Given the description of an element on the screen output the (x, y) to click on. 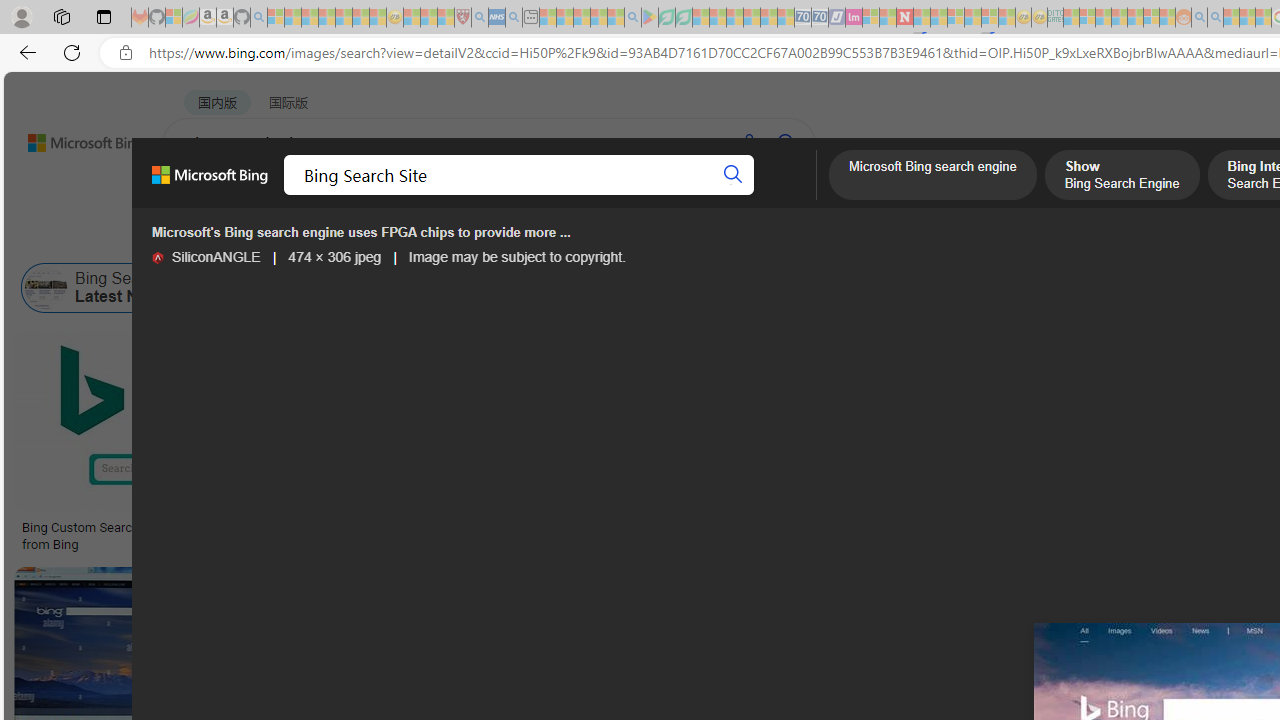
License (665, 237)
WEB (201, 195)
New tab - Sleeping (530, 17)
list of asthma inhalers uk - Search - Sleeping (479, 17)
Image result for Bing Search Site (1095, 421)
utah sues federal government - Search - Sleeping (513, 17)
Bing Search Latest News (105, 287)
Robert H. Shmerling, MD - Harvard Health - Sleeping (462, 17)
License (664, 237)
Trusted Community Engagement and Contributions | Guidelines (921, 17)
Type (373, 237)
